Given the description of an element on the screen output the (x, y) to click on. 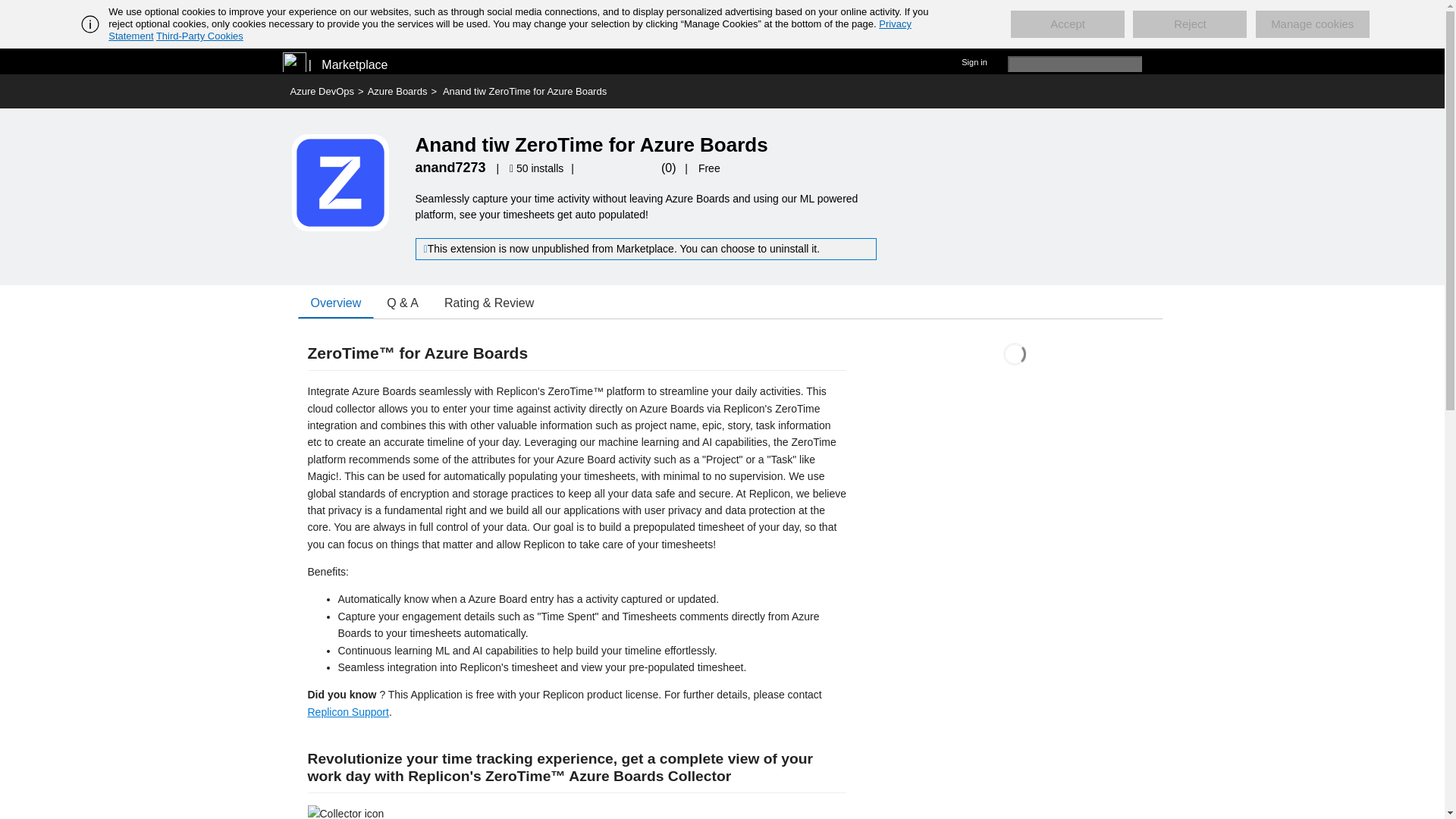
Azure Boards (398, 91)
anand7273 (450, 167)
Privacy Statement (509, 29)
Third-Party Cookies (199, 35)
Accept (1067, 23)
Replicon Support (347, 711)
The number of unique installations, not including updates. (538, 168)
Manage cookies (1312, 23)
Sign in (973, 61)
Reject (1189, 23)
